Given the description of an element on the screen output the (x, y) to click on. 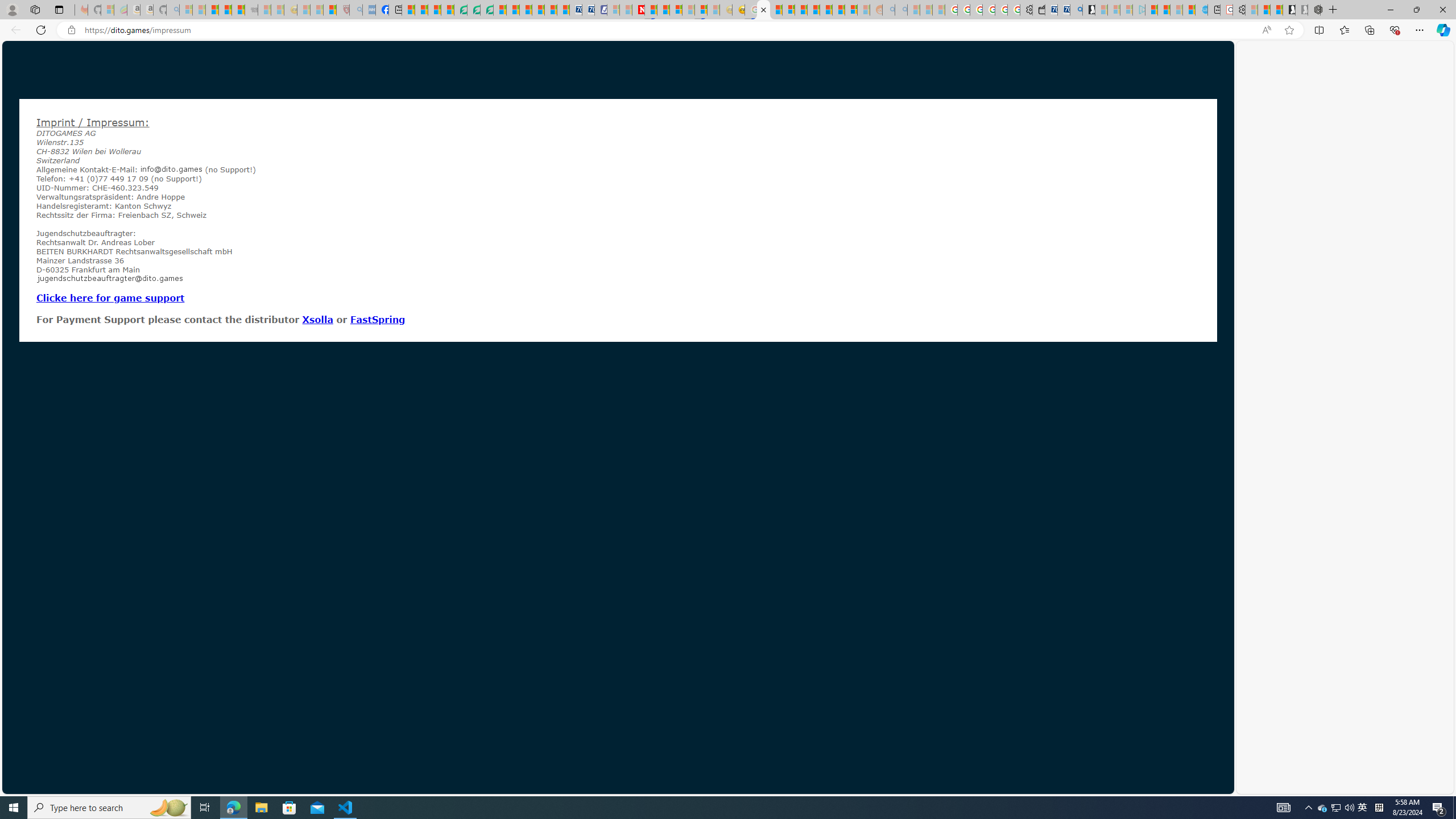
FastSpring (377, 319)
Kinda Frugal - MSN (838, 9)
